Given the description of an element on the screen output the (x, y) to click on. 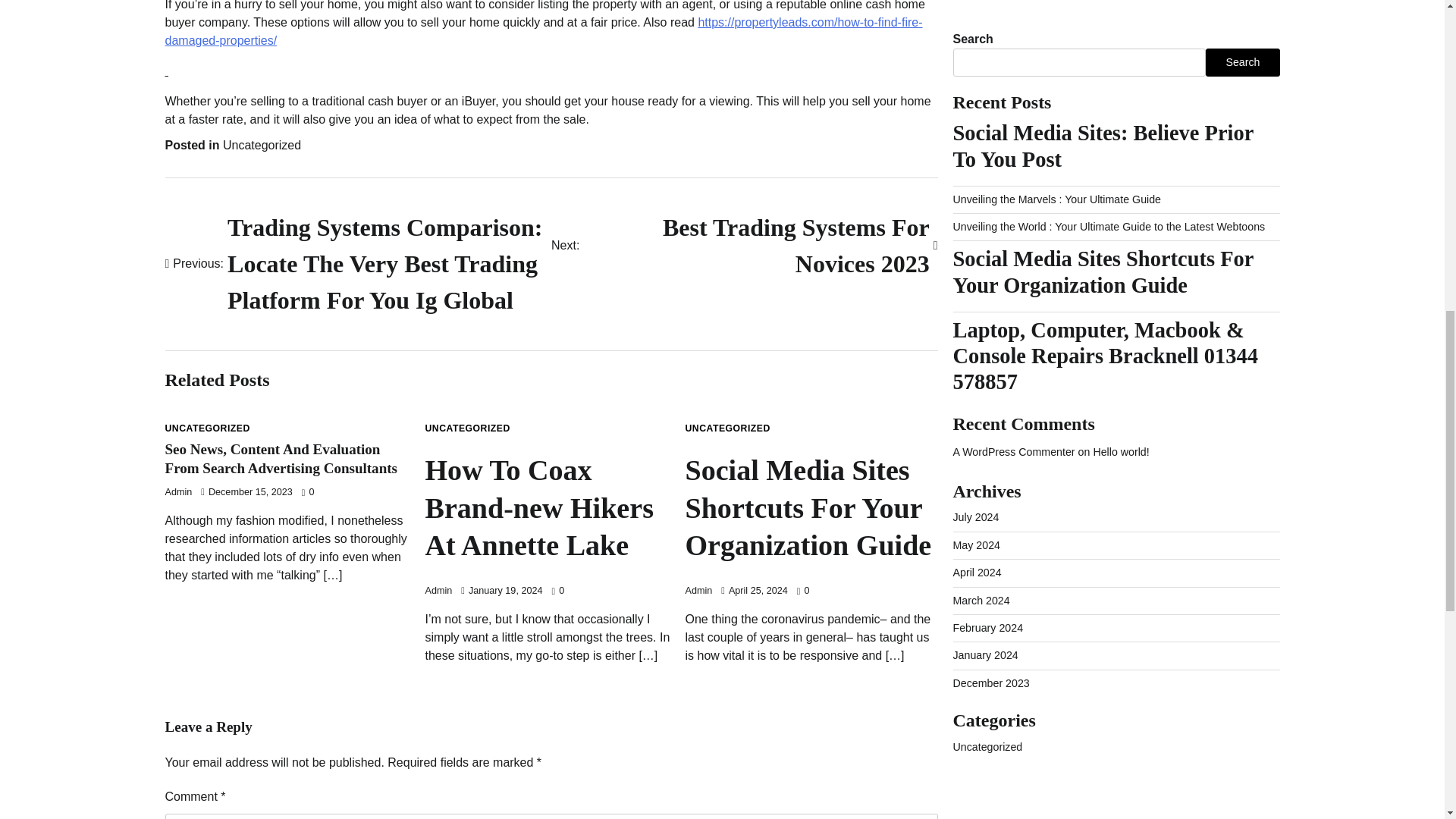
How To Coax Brand-new Hikers At Annette Lake (551, 508)
Social Media Sites Shortcuts For Your Organization Guide (811, 508)
UNCATEGORIZED (727, 428)
Admin (178, 491)
Uncategorized (261, 144)
Admin (699, 590)
Admin (438, 590)
UNCATEGORIZED (744, 245)
UNCATEGORIZED (207, 428)
